Given the description of an element on the screen output the (x, y) to click on. 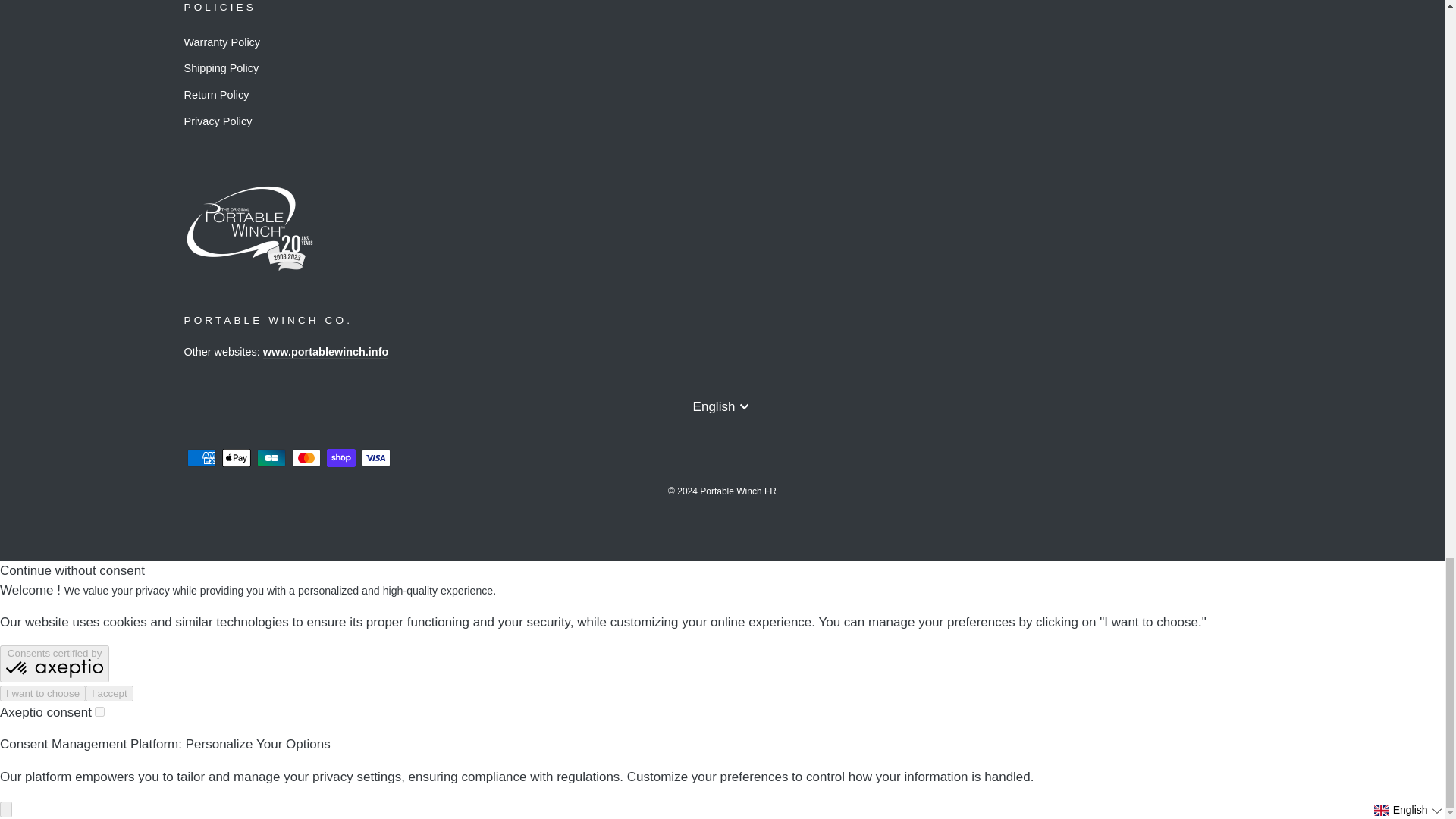
Shop Pay (340, 457)
Visa (375, 457)
Mastercard (305, 457)
American Express (200, 457)
Apple Pay (235, 457)
Cartes Bancaires (270, 457)
